Given the description of an element on the screen output the (x, y) to click on. 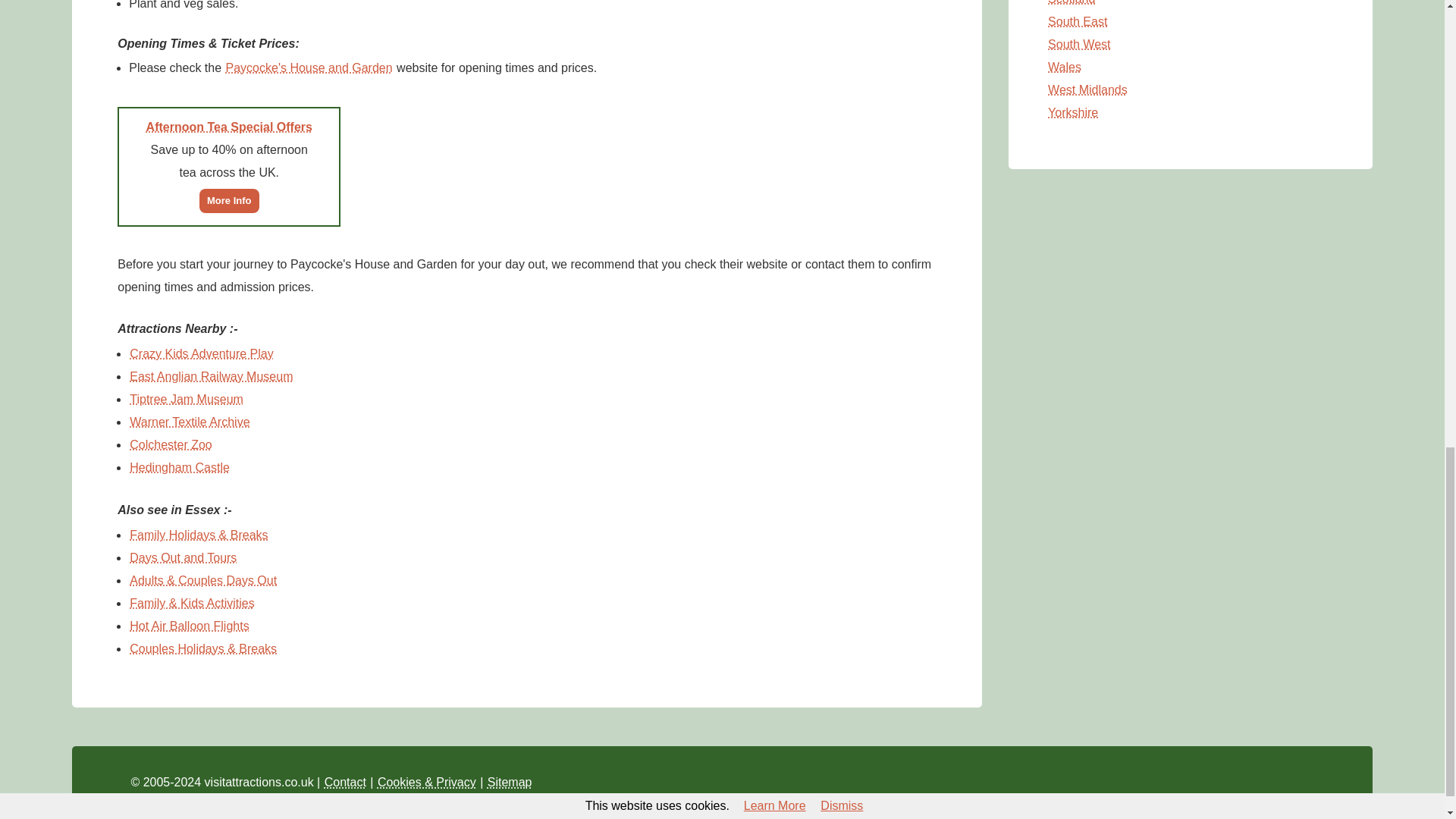
Days Out and Tours (183, 557)
Paycocke's House and Garden (309, 67)
More Info (229, 199)
Afternoon Tea Special Offers (229, 126)
East Anglian Railway Museum (211, 375)
Tiptree Jam Museum (186, 398)
Crazy Kids Adventure Play (201, 352)
Warner Textile Archive (189, 420)
Hot Air Balloon Flights (188, 625)
Hedingham Castle (179, 466)
